Given the description of an element on the screen output the (x, y) to click on. 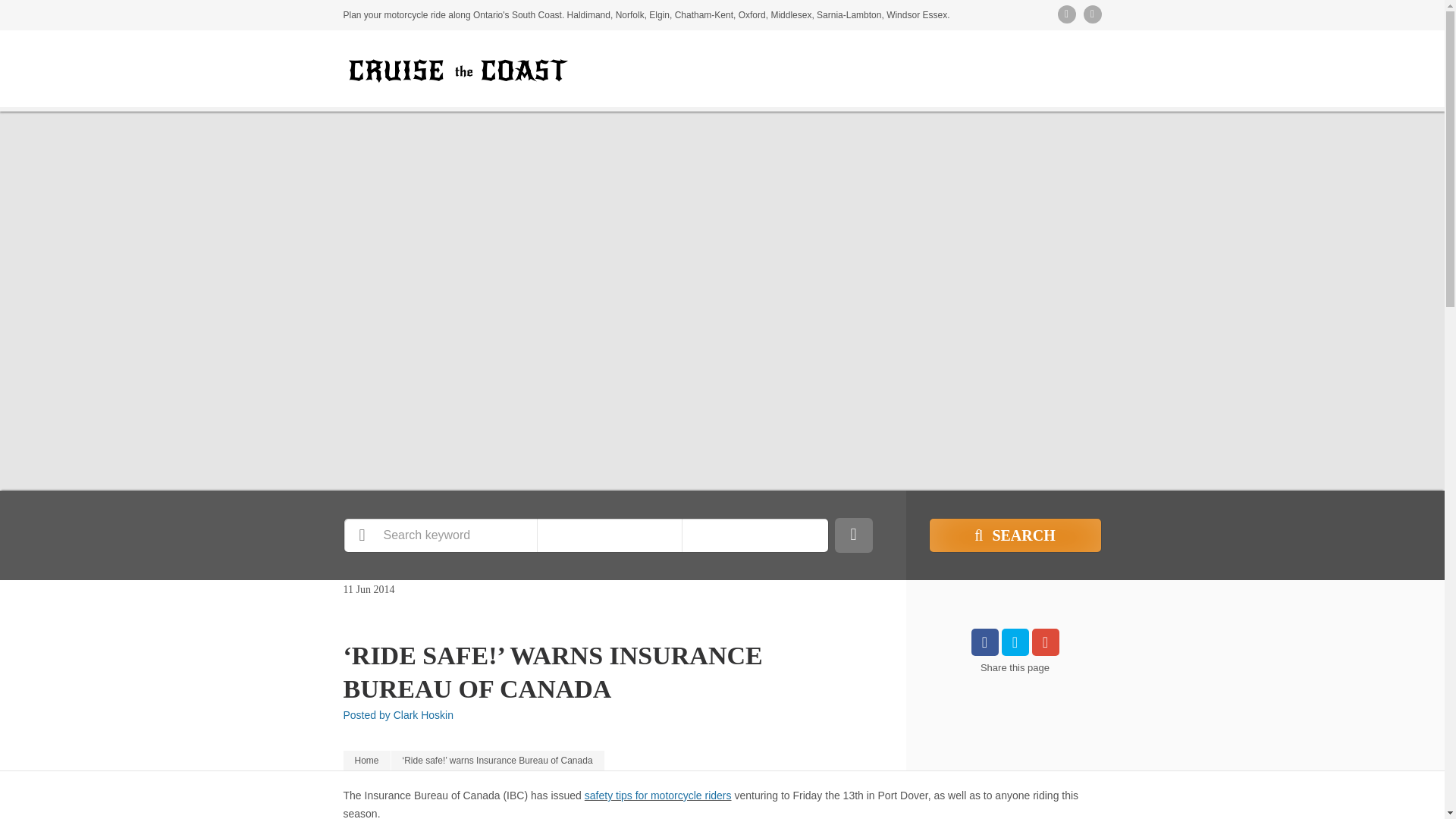
Search (1014, 534)
safety tips for motorcycle riders (658, 795)
IBC tips (658, 795)
Cruise the Coast (456, 70)
Home (366, 760)
Search (1014, 534)
View all posts by Clark Hoskin (397, 715)
Search (1014, 534)
Cruise the Coast (366, 760)
Posted by Clark Hoskin (397, 715)
